Given the description of an element on the screen output the (x, y) to click on. 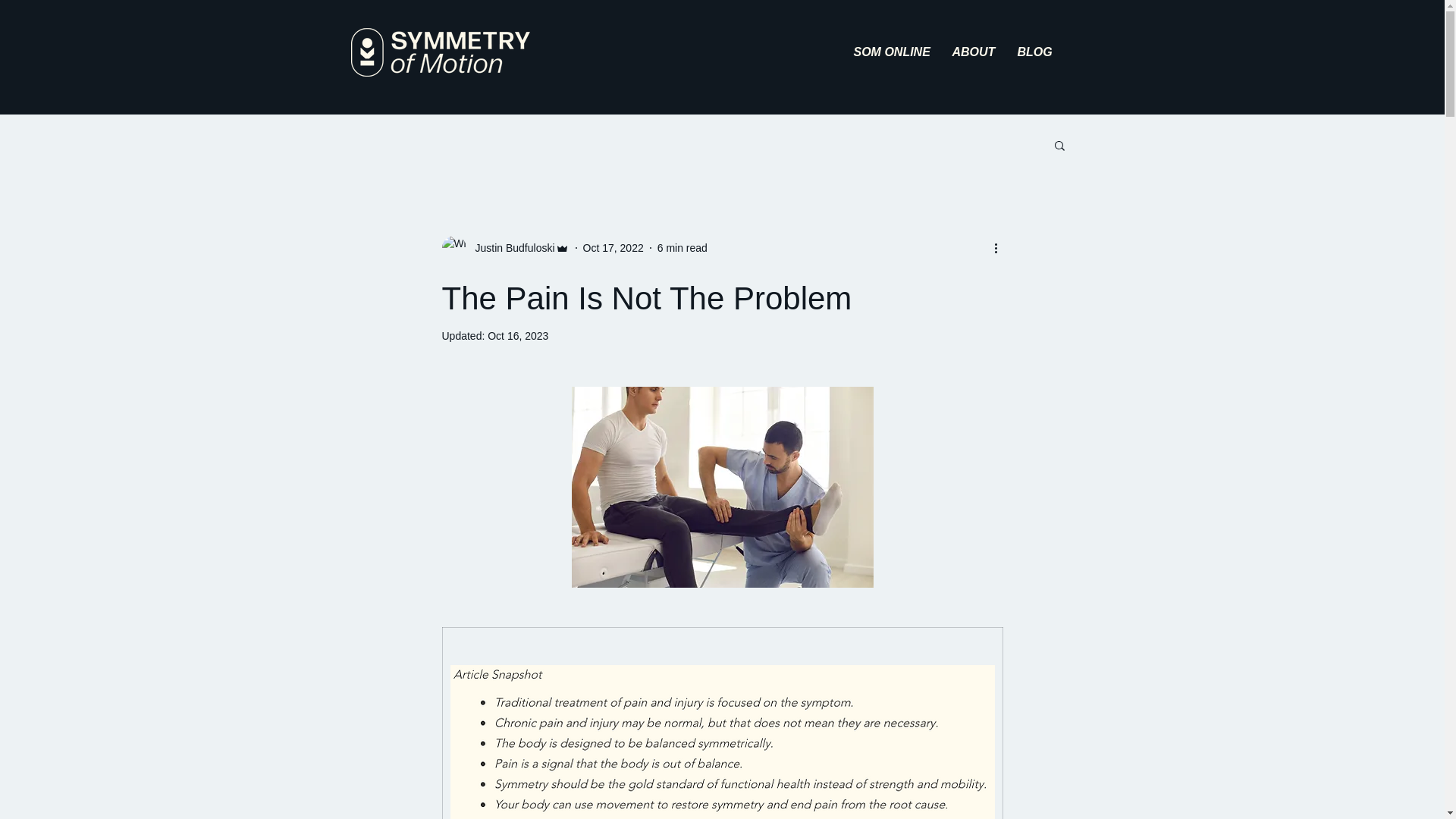
SOM ONLINE (890, 52)
Justin Budfuloski (505, 247)
Oct 16, 2023 (517, 336)
Justin Budfuloski (509, 247)
BLOG (1033, 52)
Oct 17, 2022 (613, 246)
ABOUT (973, 52)
6 min read (682, 246)
